Given the description of an element on the screen output the (x, y) to click on. 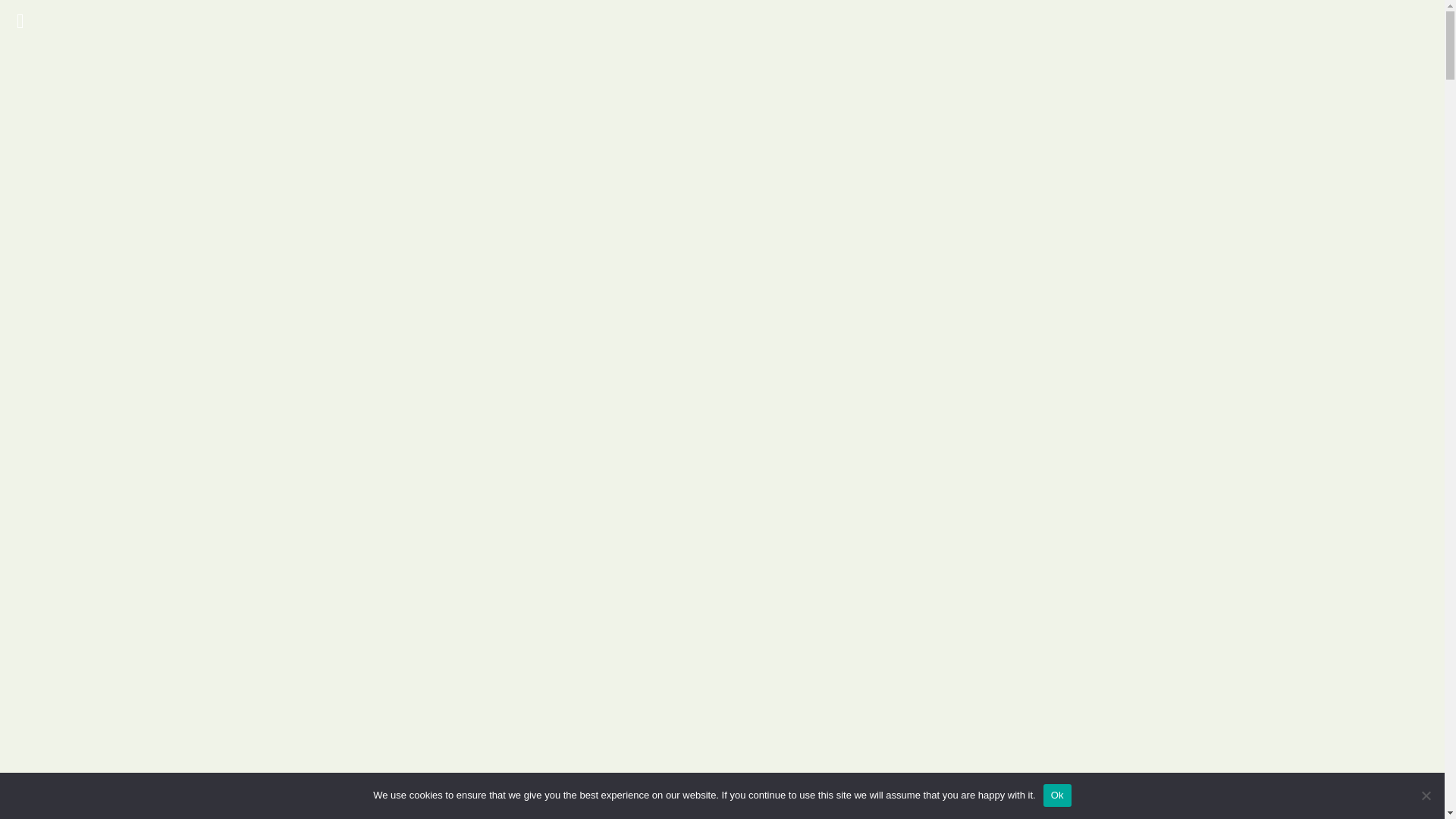
No (1425, 795)
Ok (1057, 794)
Main Menu (24, 21)
